Given the description of an element on the screen output the (x, y) to click on. 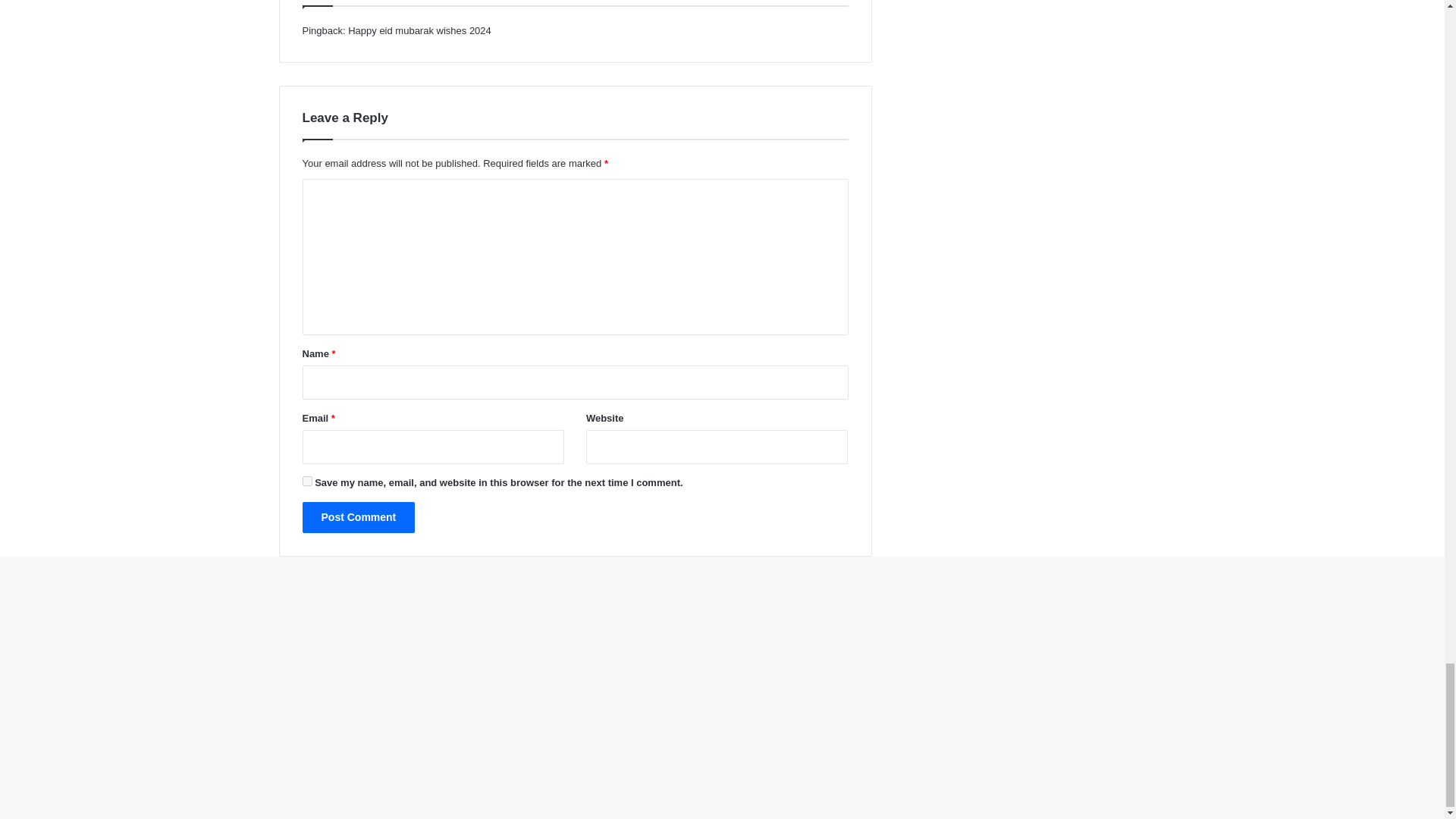
yes (306, 480)
Happy eid mubarak wishes 2024 (419, 30)
Post Comment (357, 517)
Post Comment (357, 517)
